Given the description of an element on the screen output the (x, y) to click on. 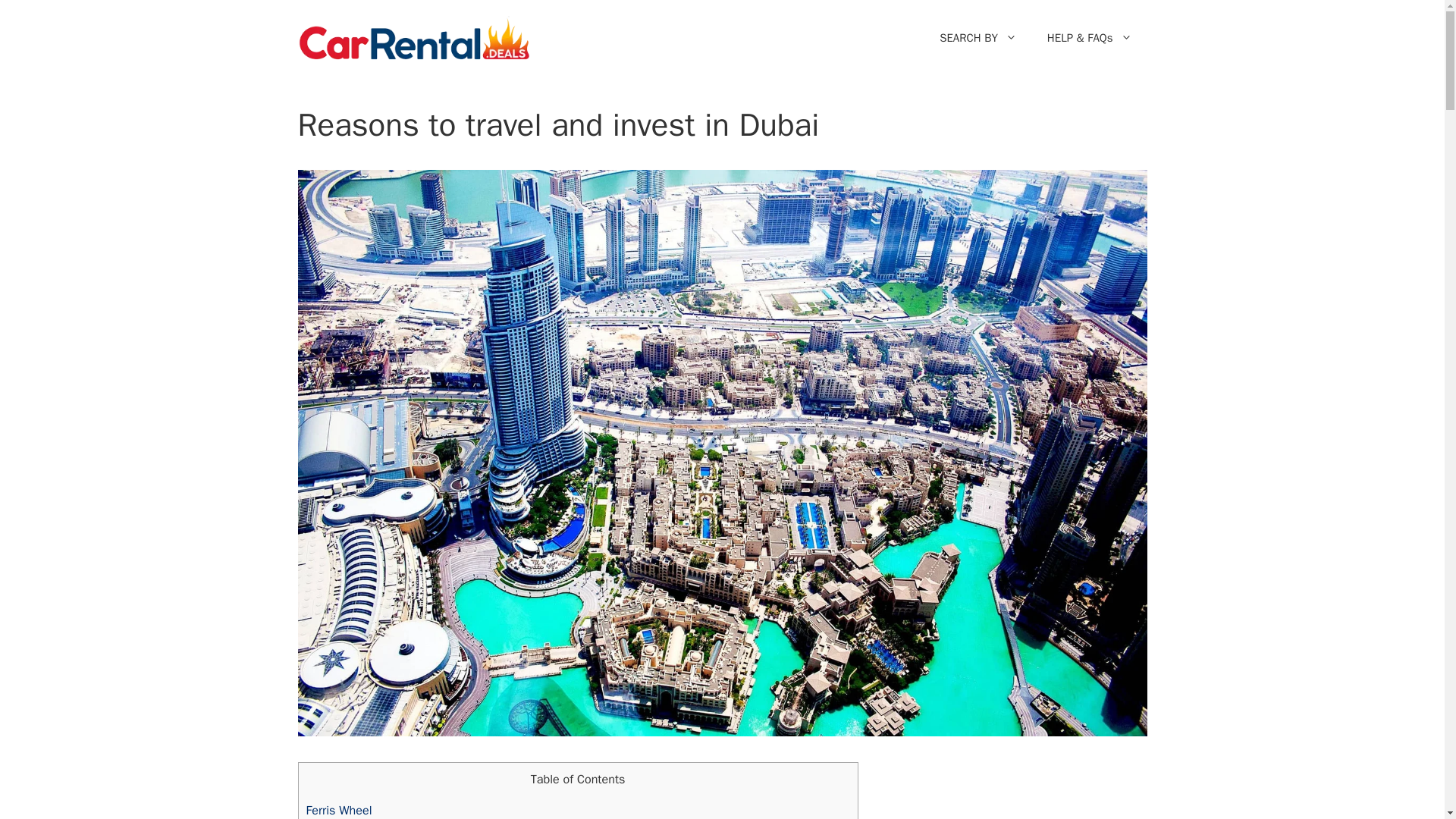
Ferris Wheel (338, 810)
SEARCH BY (978, 37)
